Given the description of an element on the screen output the (x, y) to click on. 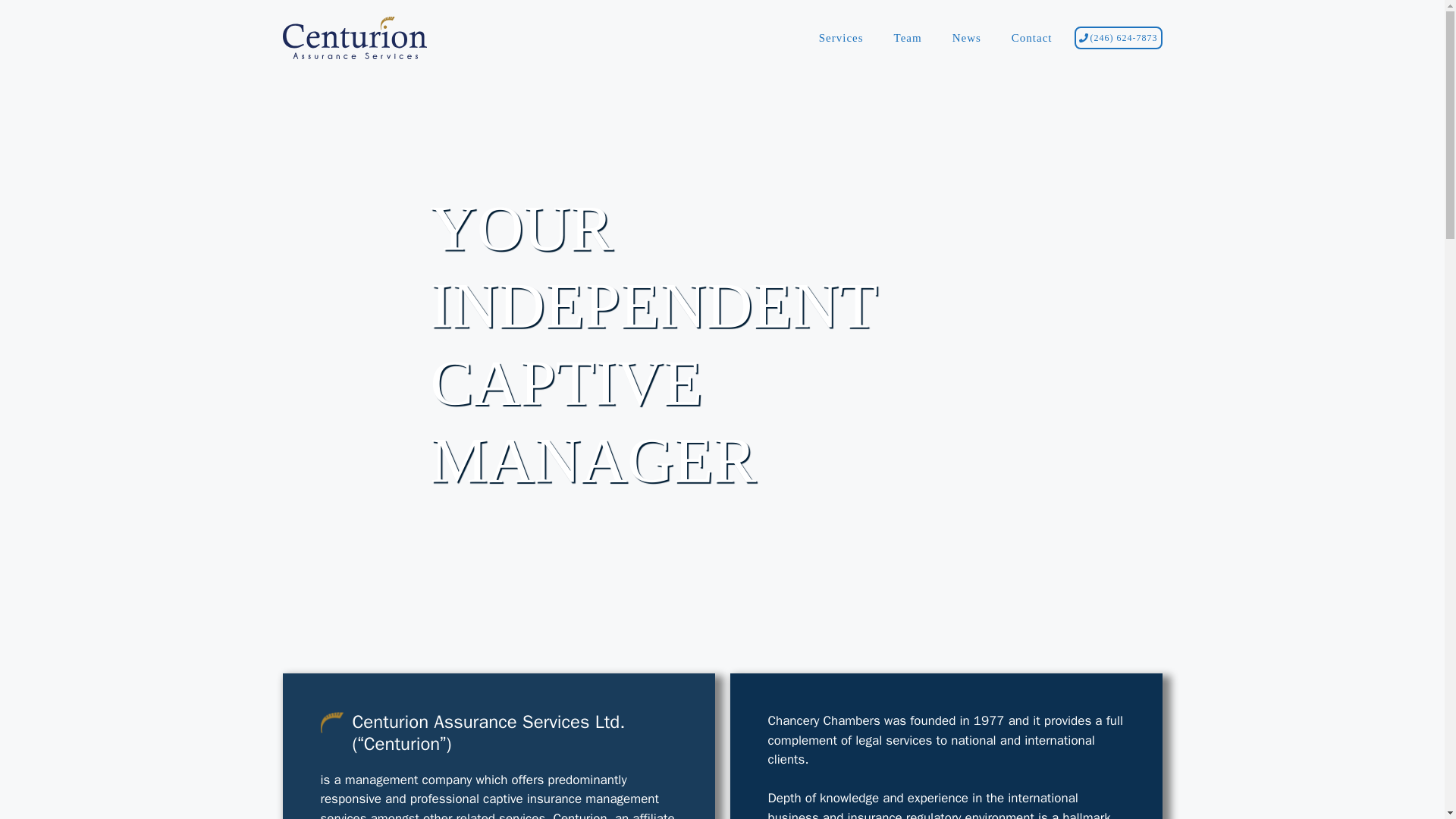
Team (908, 37)
Contact (1031, 37)
News (966, 37)
Services (841, 37)
